Given the description of an element on the screen output the (x, y) to click on. 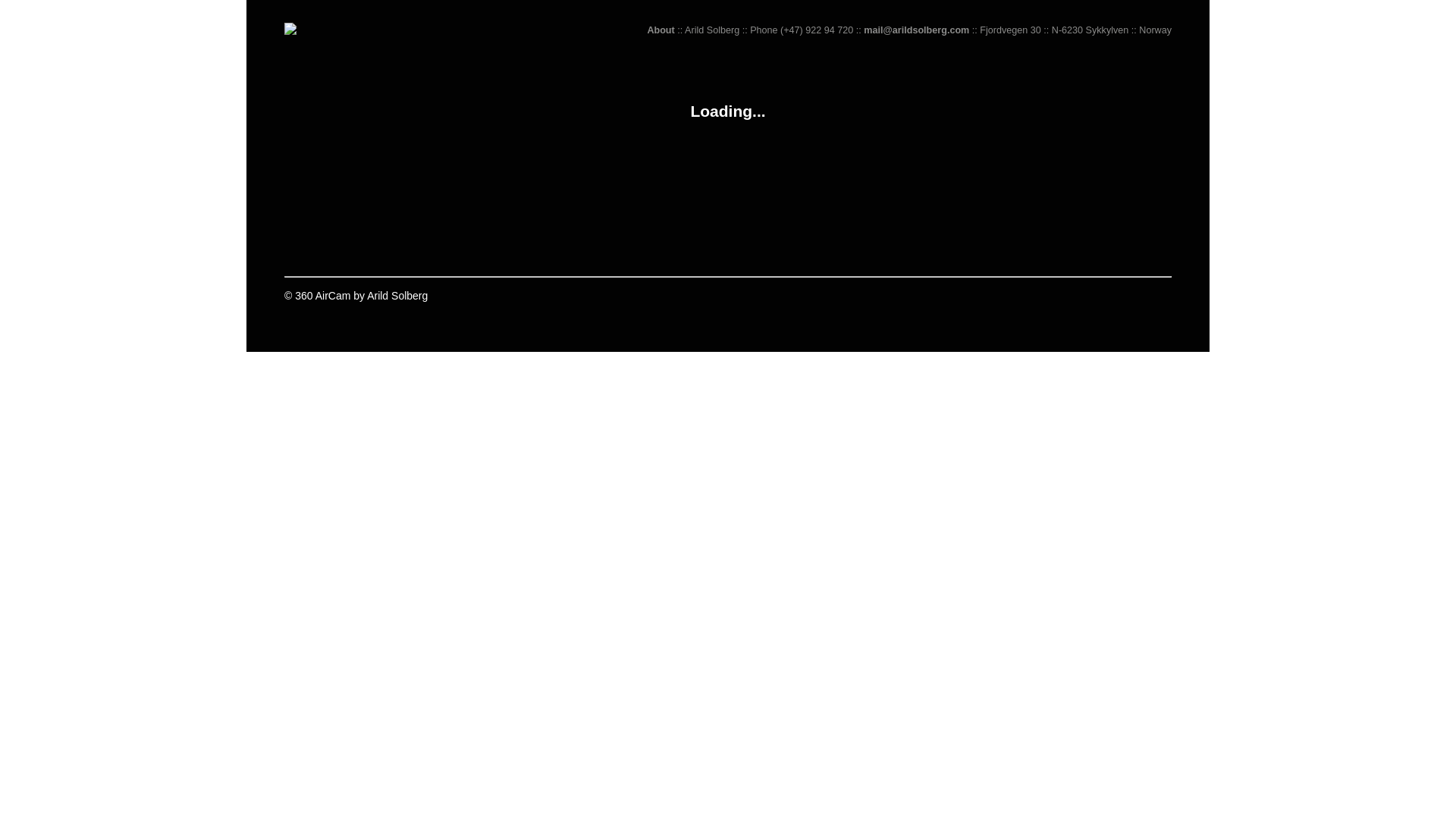
About Element type: text (660, 30)
mail@arildsolberg.com Element type: text (916, 30)
